Given the description of an element on the screen output the (x, y) to click on. 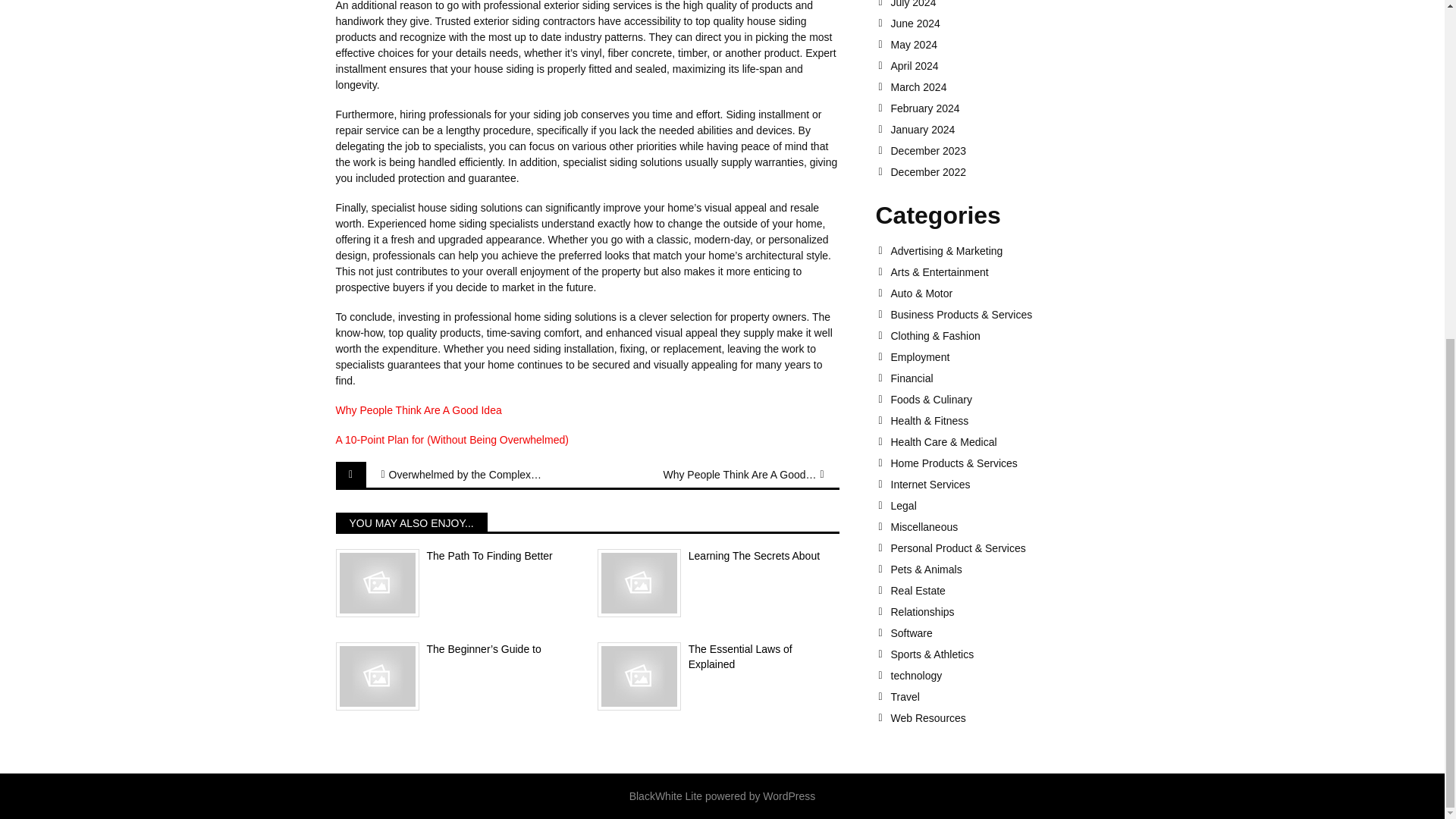
June 2024 (998, 23)
December 2022 (998, 172)
Employment (998, 357)
July 2024 (998, 4)
March 2024 (998, 87)
The Essential Laws of Explained (718, 656)
May 2024 (998, 44)
February 2024 (998, 108)
Learning The Secrets About (718, 556)
April 2024 (998, 65)
